Given the description of an element on the screen output the (x, y) to click on. 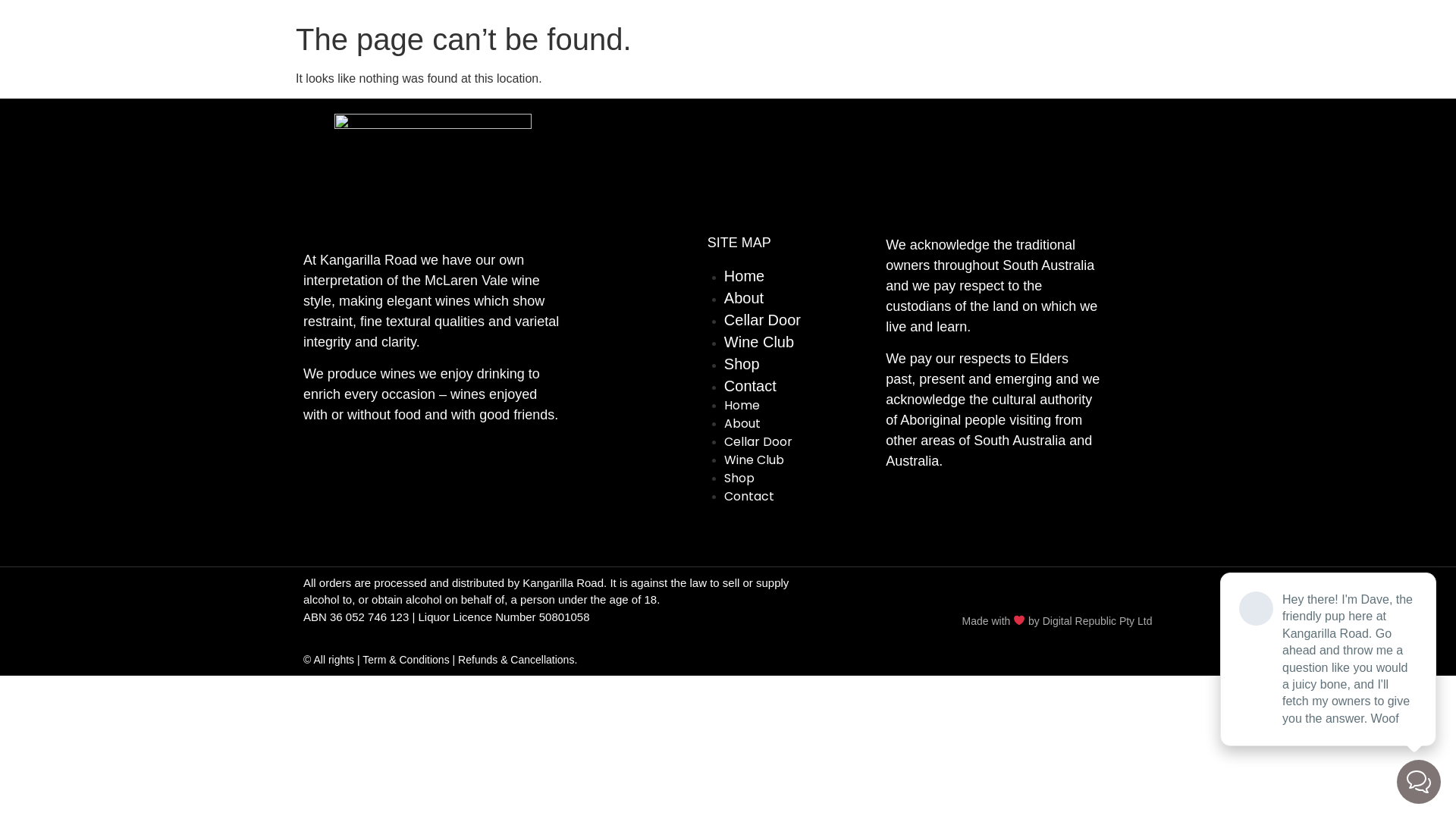
Contact Element type: text (750, 385)
Wine Club Element type: text (754, 459)
Shop Element type: text (741, 363)
Wine Club Element type: text (758, 341)
Home Element type: text (744, 275)
Term & Conditions Element type: text (405, 659)
Home Element type: text (741, 405)
Refunds & Cancellations Element type: text (516, 659)
About Element type: text (742, 423)
Contact Element type: text (749, 496)
Cellar Door Element type: text (758, 441)
About Element type: text (743, 297)
Cellar Door Element type: text (762, 319)
Made with by Digital Republic Pty Ltd Element type: text (1057, 621)
Shop Element type: text (739, 477)
